Given the description of an element on the screen output the (x, y) to click on. 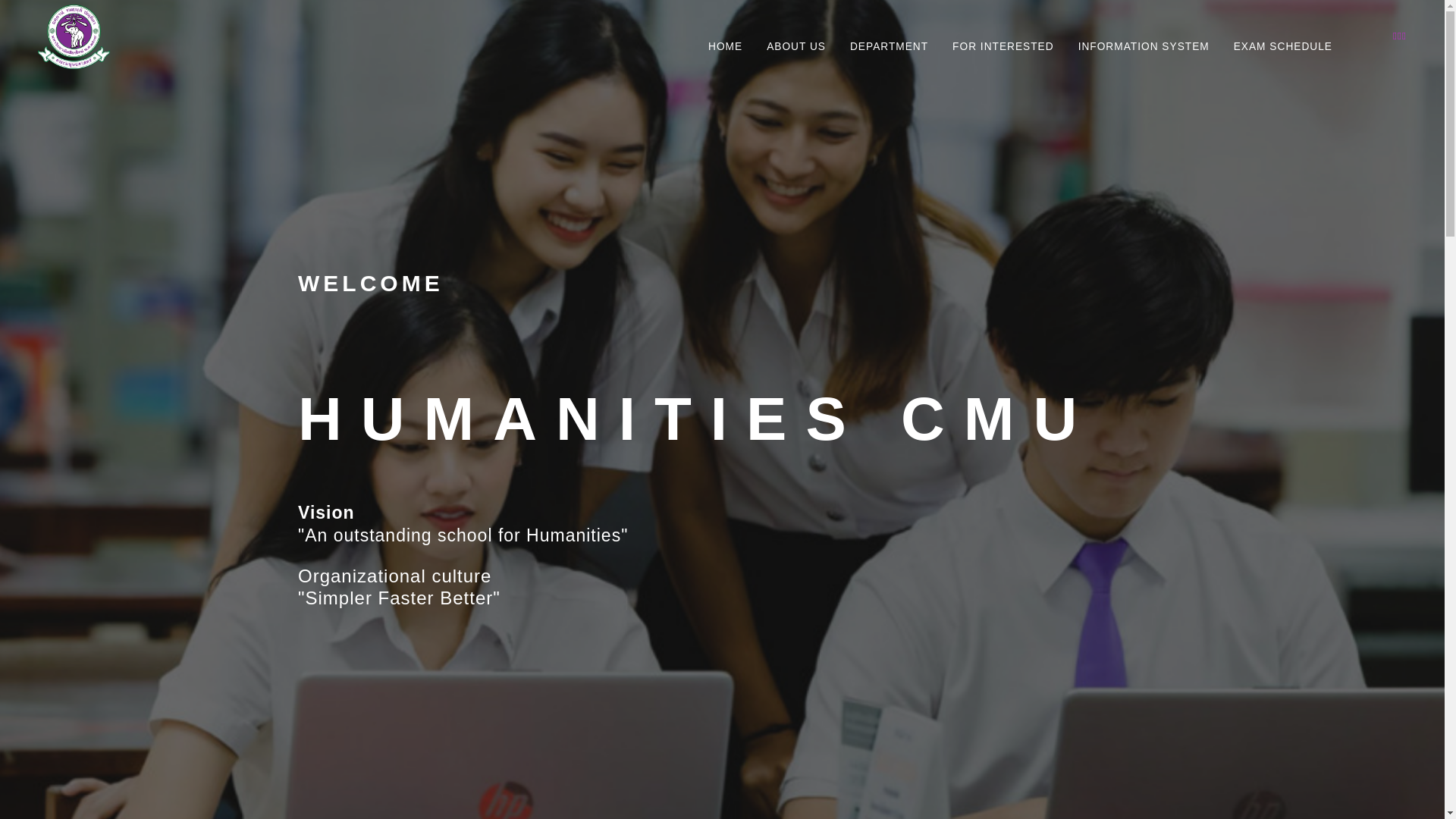
HOME (724, 36)
ABOUT US (796, 36)
DEPARTMENT (889, 36)
